Given the description of an element on the screen output the (x, y) to click on. 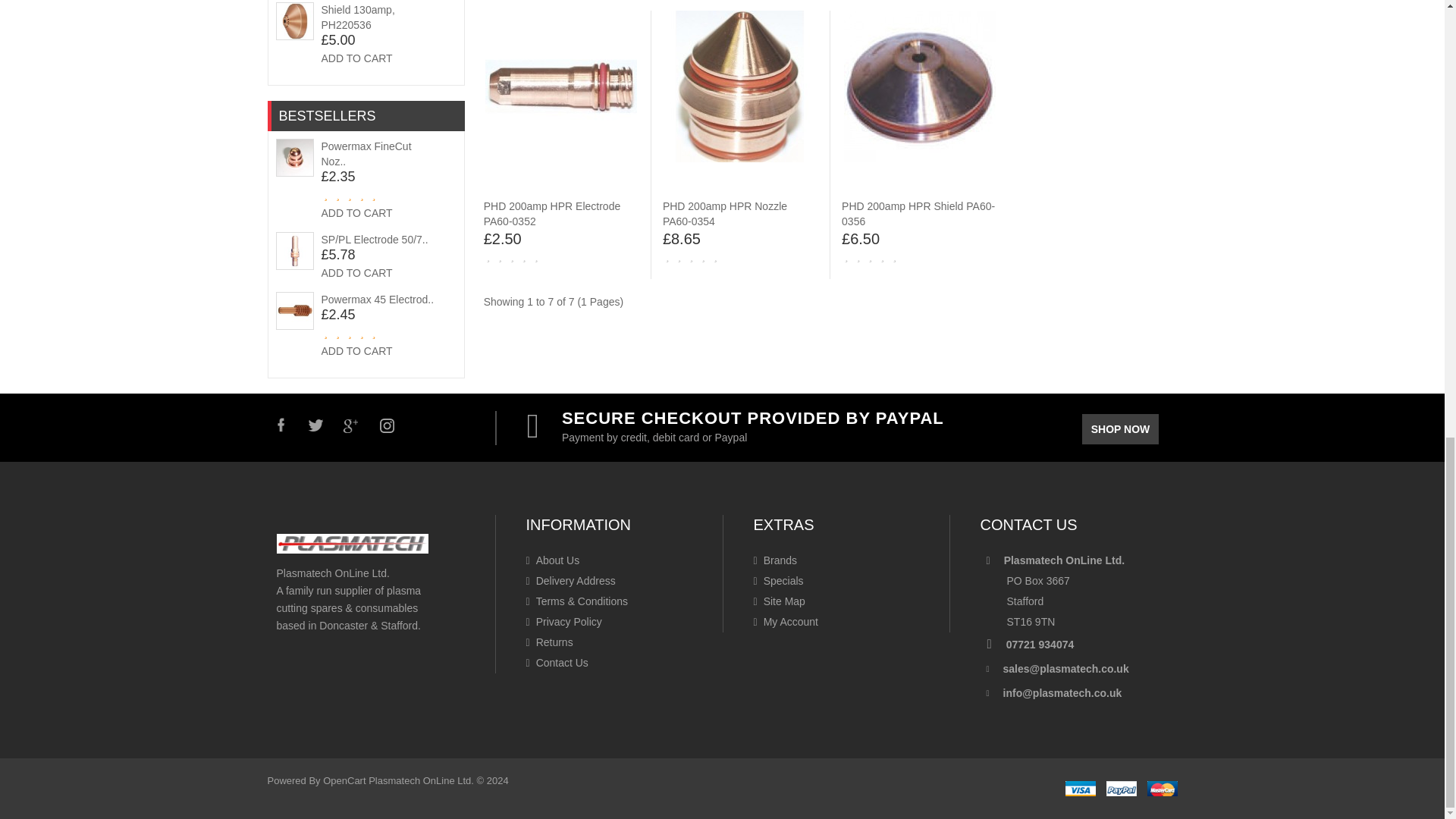
Powermax FineCut Nozzle 45amp PH220930 (366, 153)
Shield 130amp, PH220536 (357, 17)
Powermax FineCut Nozzle 45amp PH220930 (294, 157)
Shield 130amp, PH220536 (294, 21)
